Given the description of an element on the screen output the (x, y) to click on. 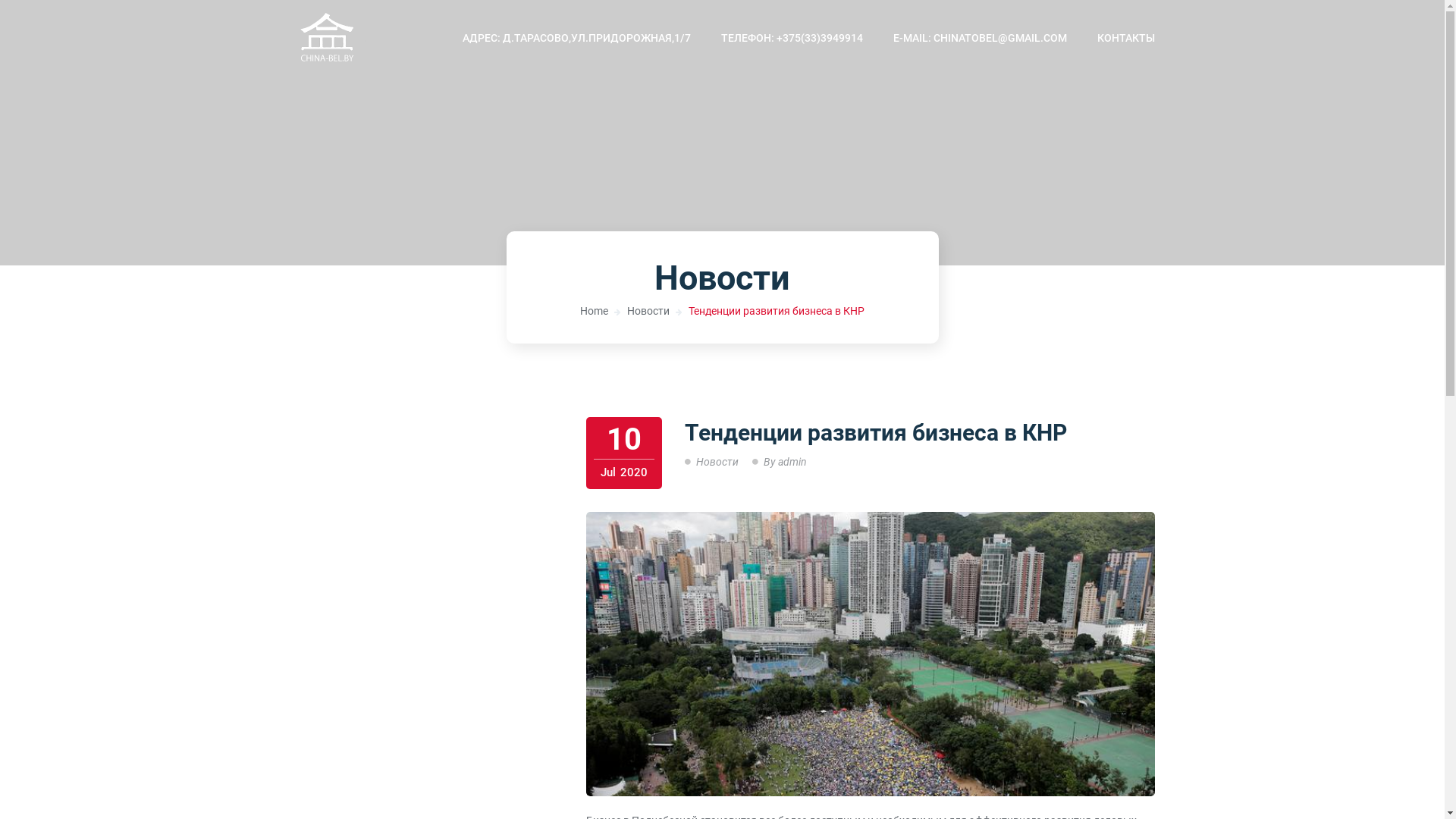
Home Element type: text (594, 310)
E-MAIL: CHINATOBEL@GMAIL.COM Element type: text (979, 37)
